Given the description of an element on the screen output the (x, y) to click on. 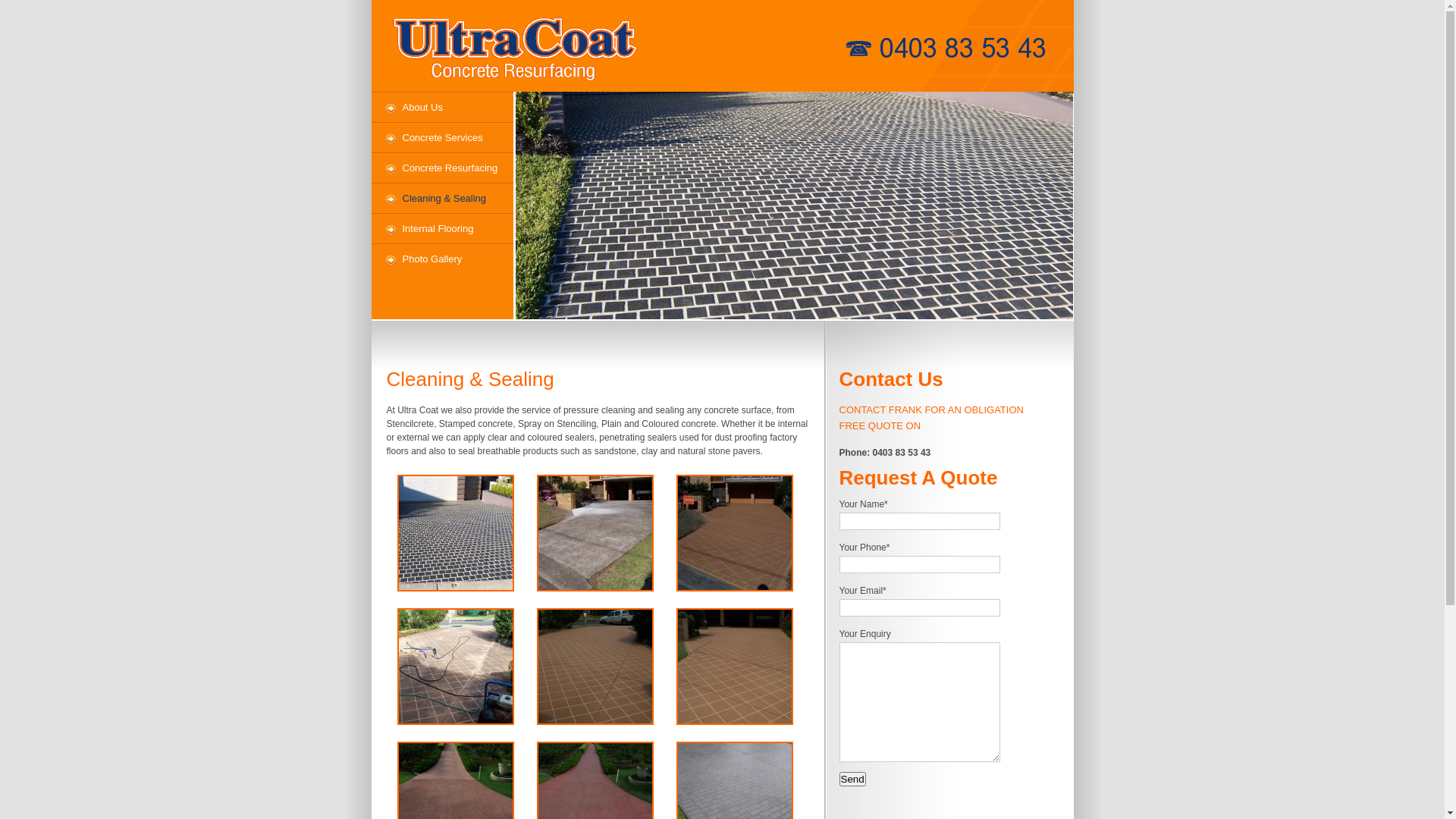
Concrete Services Element type: text (442, 137)
Photo Gallery Element type: text (442, 258)
Cleaning & Sealing Element type: text (442, 198)
About Us Element type: text (442, 107)
Send Element type: text (851, 778)
Concrete Resurfacing Element type: text (442, 167)
Internal Flooring Element type: text (442, 228)
